Given the description of an element on the screen output the (x, y) to click on. 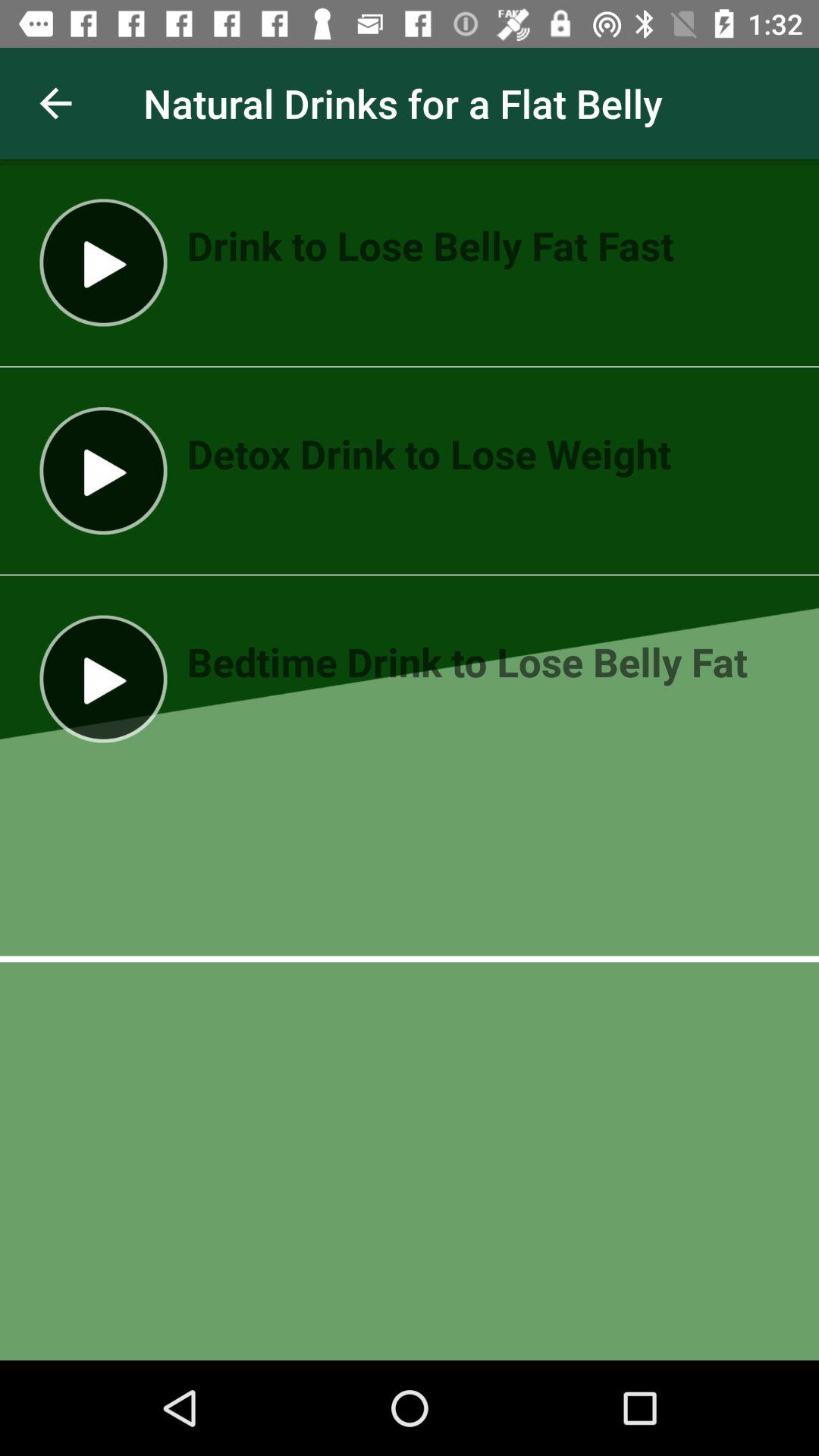
select the icon next to natural drinks for item (55, 103)
